Given the description of an element on the screen output the (x, y) to click on. 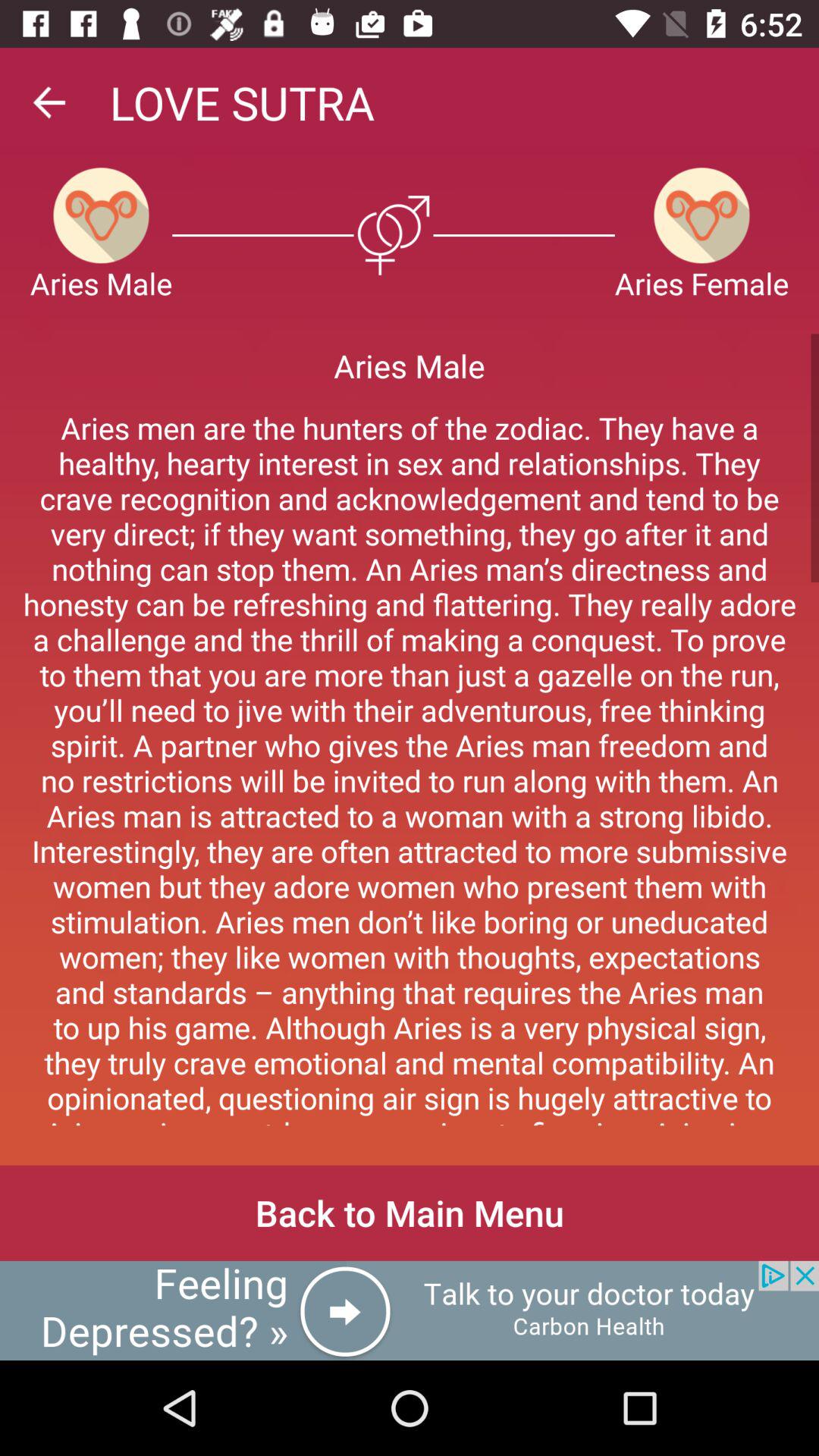
its an advertisement (409, 1310)
